Given the description of an element on the screen output the (x, y) to click on. 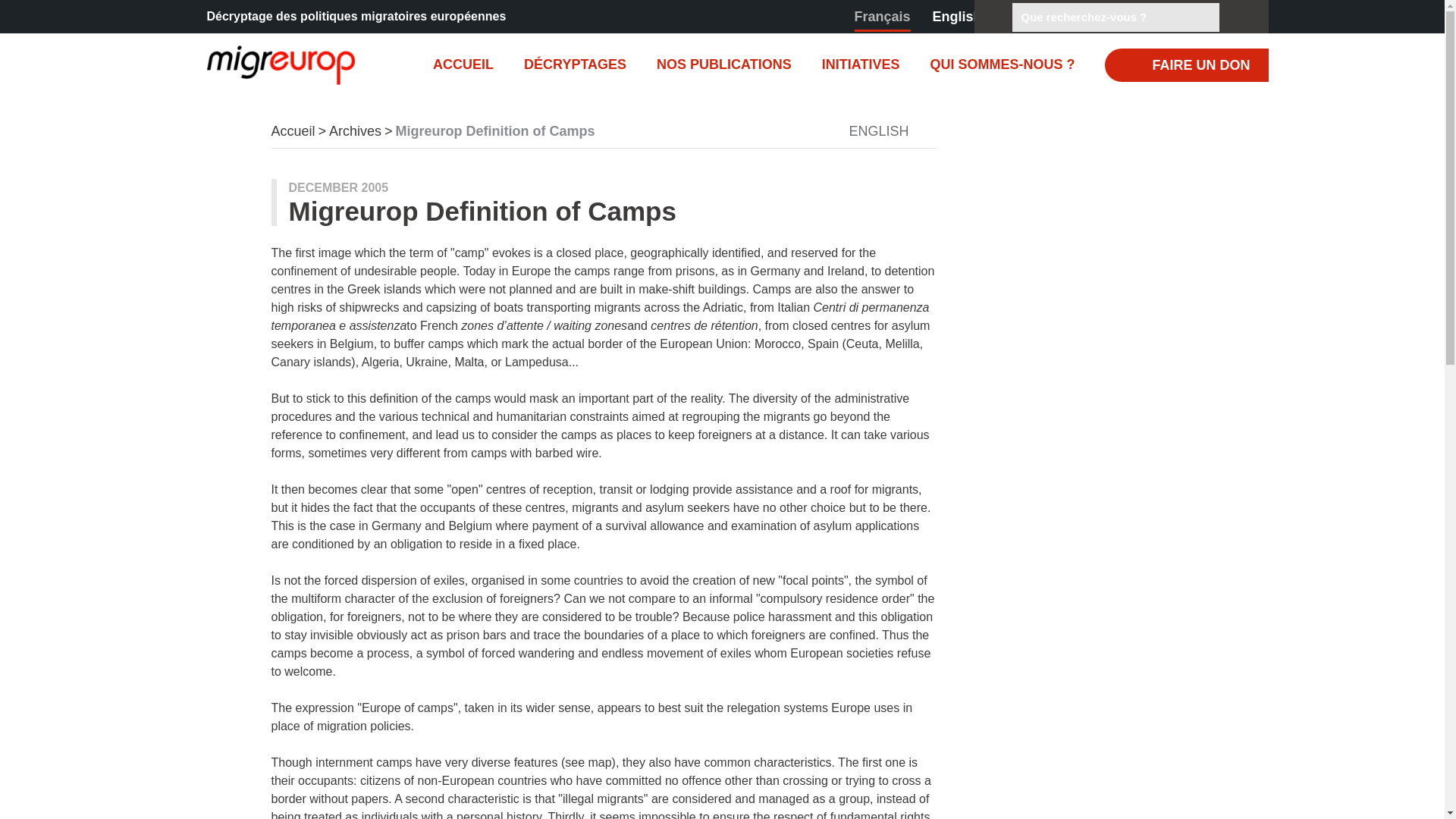
QUI SOMMES-NOUS ? (1001, 64)
English (957, 16)
ENGLISH (888, 131)
Archives (355, 130)
INITIATIVES (860, 64)
ACCUEIL (462, 64)
NOS PUBLICATIONS (724, 64)
Rechercher (1235, 17)
Accueil (267, 63)
Rechercher (1234, 17)
FAIRE UN DON (1186, 64)
Accueil (292, 130)
